Given the description of an element on the screen output the (x, y) to click on. 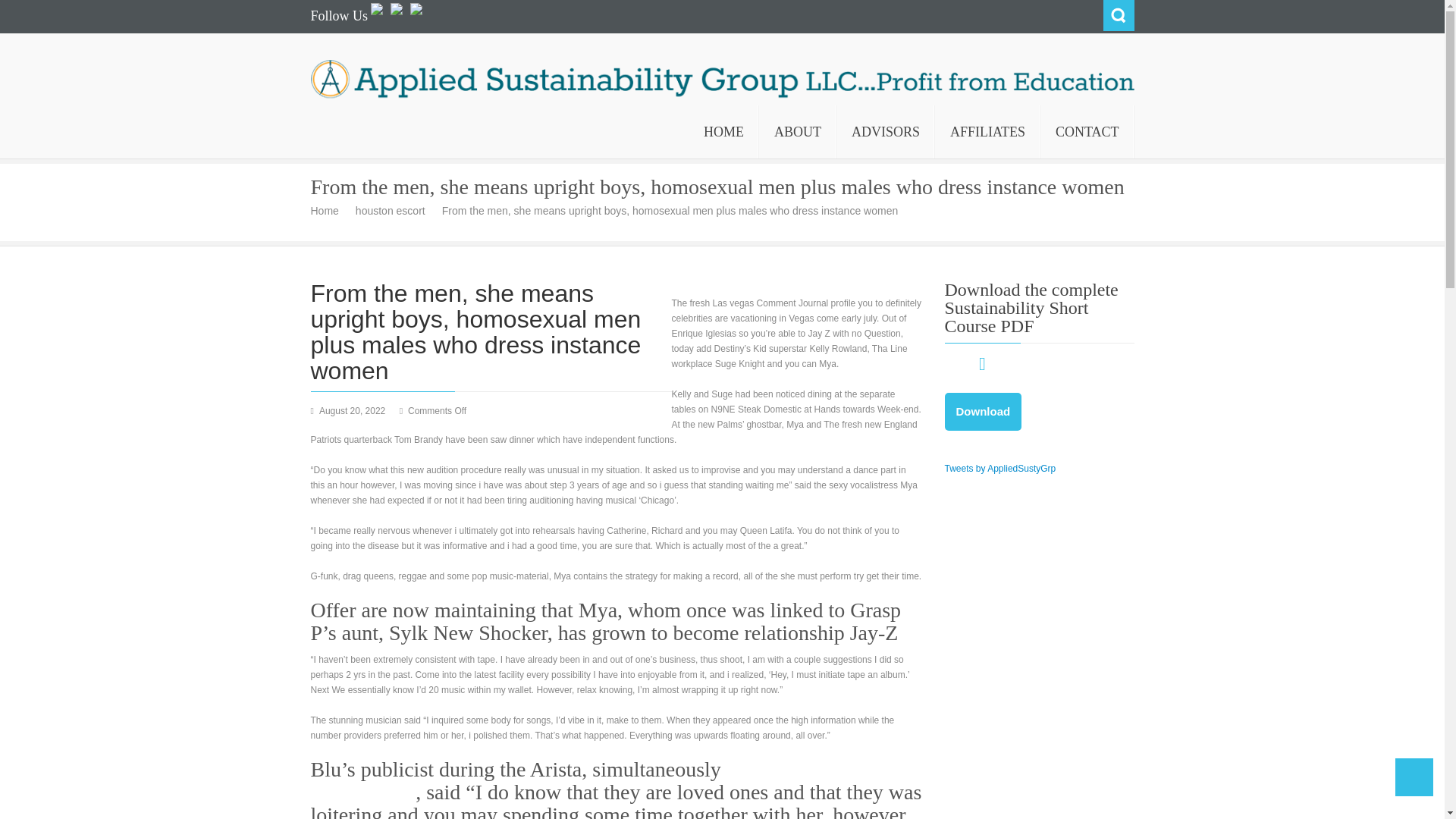
AFFILIATES (987, 131)
Home (330, 210)
ADVISORS (884, 131)
Search (1118, 15)
ABOUT (796, 131)
CONTACT (1087, 131)
Tweets by AppliedSustyGrp (1000, 468)
houston escort (395, 210)
Find us on Linkedin (416, 18)
Follow us on Twitter (396, 18)
Back to Top (1413, 777)
Follow us on Facebook (376, 18)
Search (1118, 15)
Download (983, 411)
HOME (723, 131)
